Given the description of an element on the screen output the (x, y) to click on. 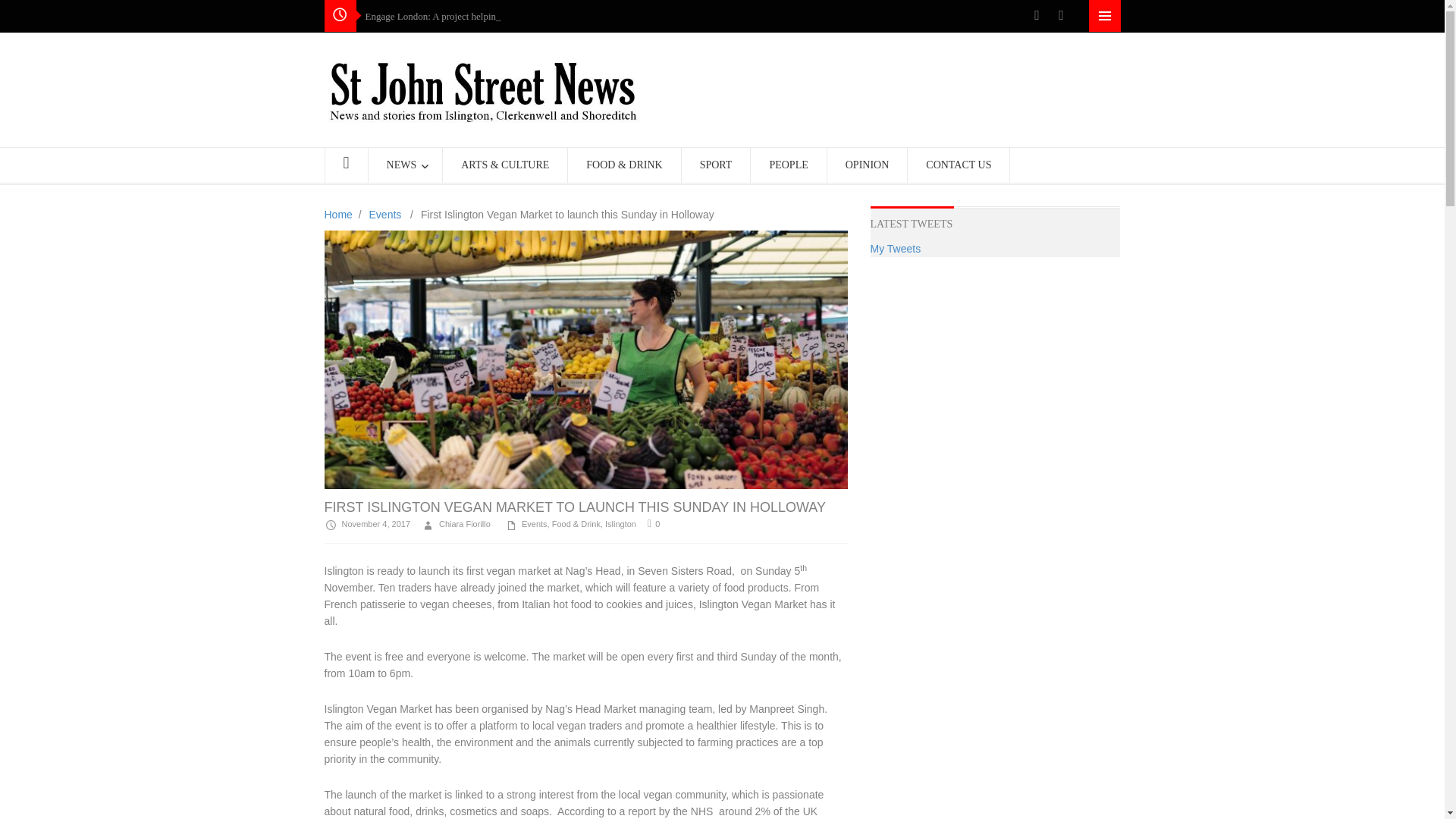
PEOPLE (788, 165)
Events (534, 523)
Chiara Fiorillo (456, 523)
Events (385, 214)
Islington (620, 523)
CONTACT US (958, 165)
0 (653, 523)
Home (338, 214)
NEWS (406, 165)
SPORT (716, 165)
OPINION (867, 165)
